Given the description of an element on the screen output the (x, y) to click on. 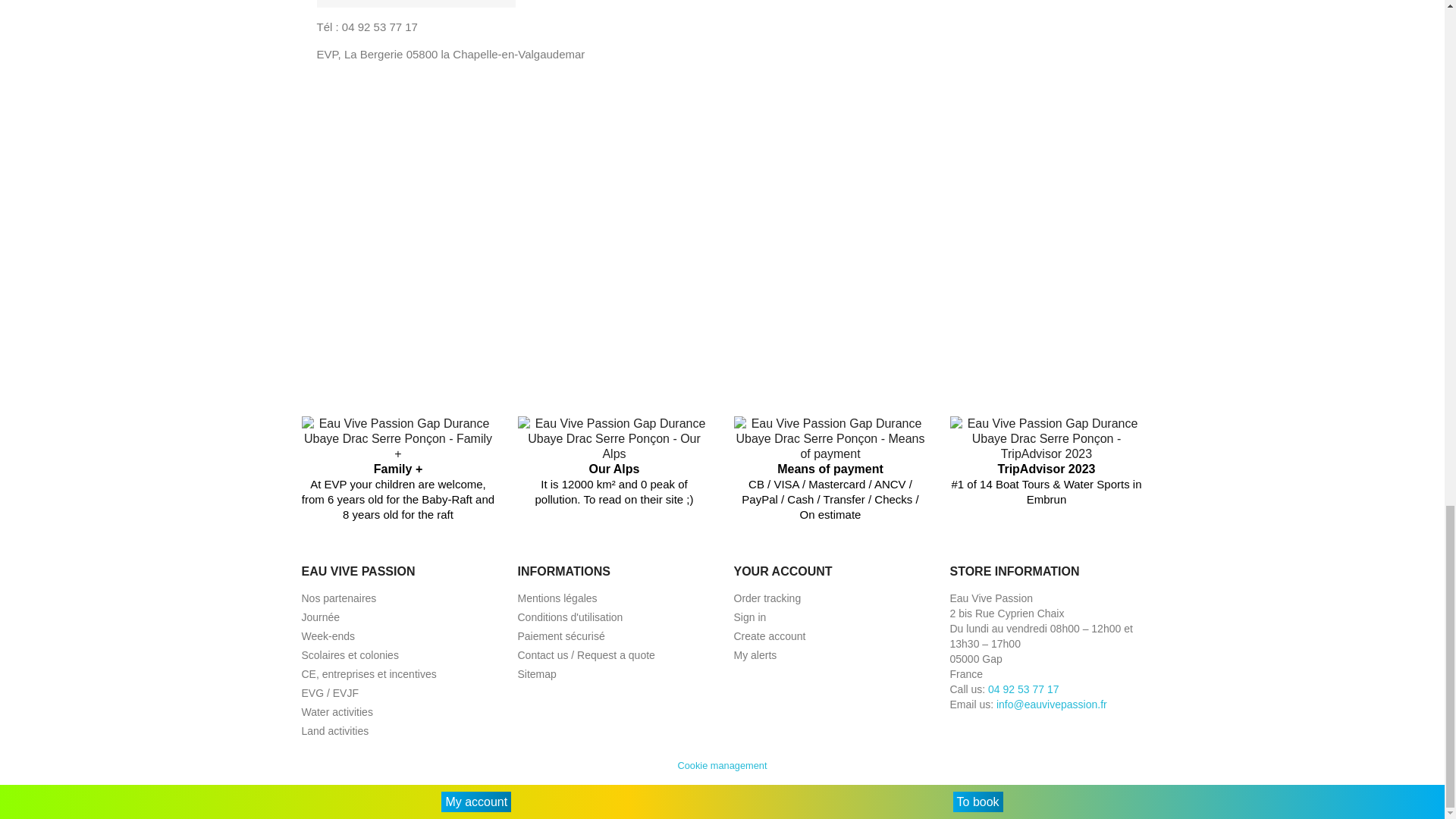
Nos conditions d'utilisation (569, 616)
Use our form to contact us (584, 654)
Lost ? Find what your are looking for (536, 674)
My alerts (755, 654)
Nos partenaires (339, 598)
Log in to your customer account (750, 616)
Order tracking (767, 598)
Create account (769, 635)
